Given the description of an element on the screen output the (x, y) to click on. 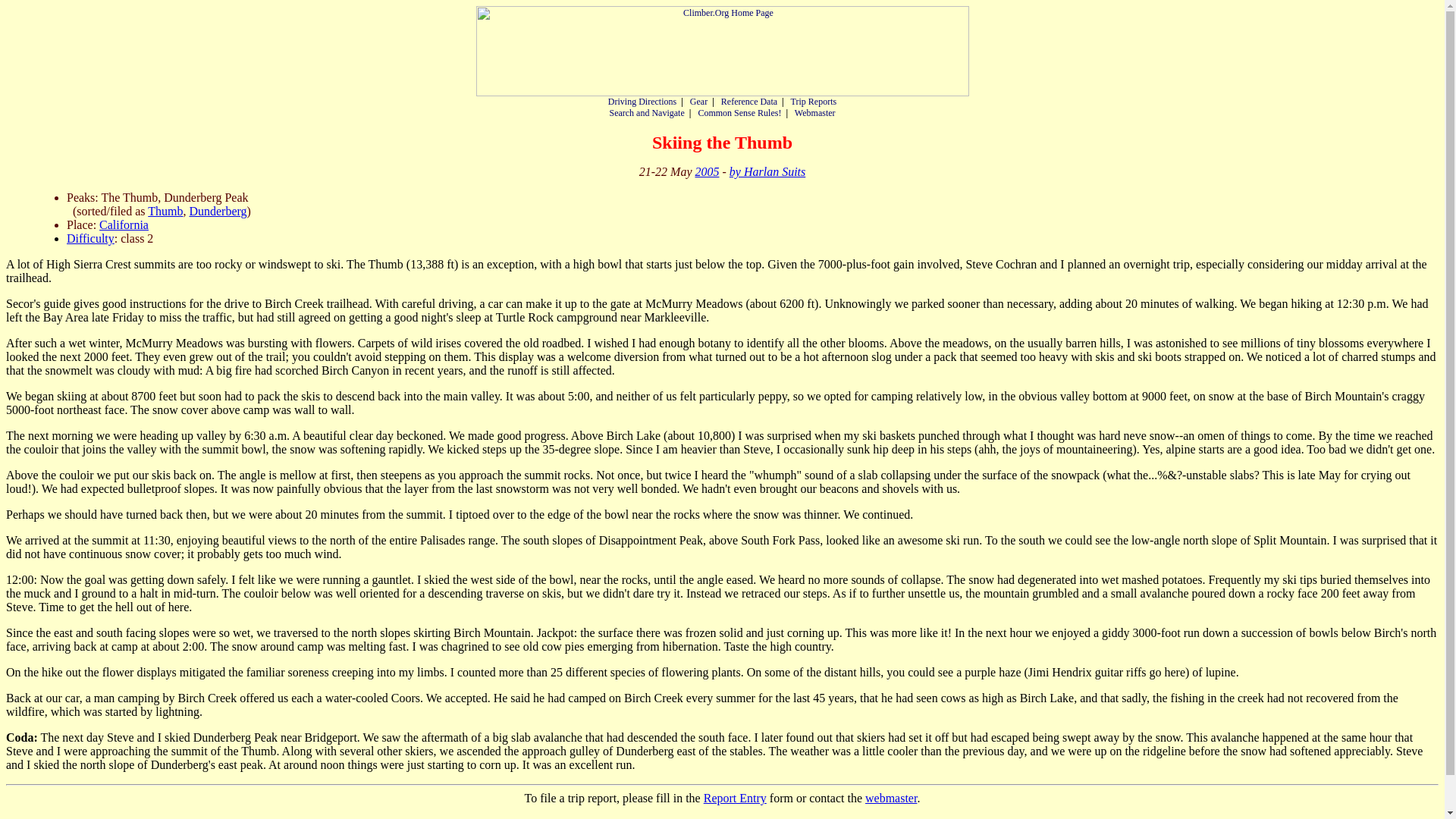
Dunderberg (217, 210)
Thumb (165, 210)
Driving Directions (642, 101)
Webmaster (814, 112)
webmaster (890, 797)
Report Entry (735, 797)
Difficulty (90, 237)
by Harlan Suits (767, 171)
Gear (698, 101)
Reference Data (748, 101)
Driving Directions (642, 818)
California (123, 224)
Reference Data (748, 818)
Trip Reports (813, 818)
